Given the description of an element on the screen output the (x, y) to click on. 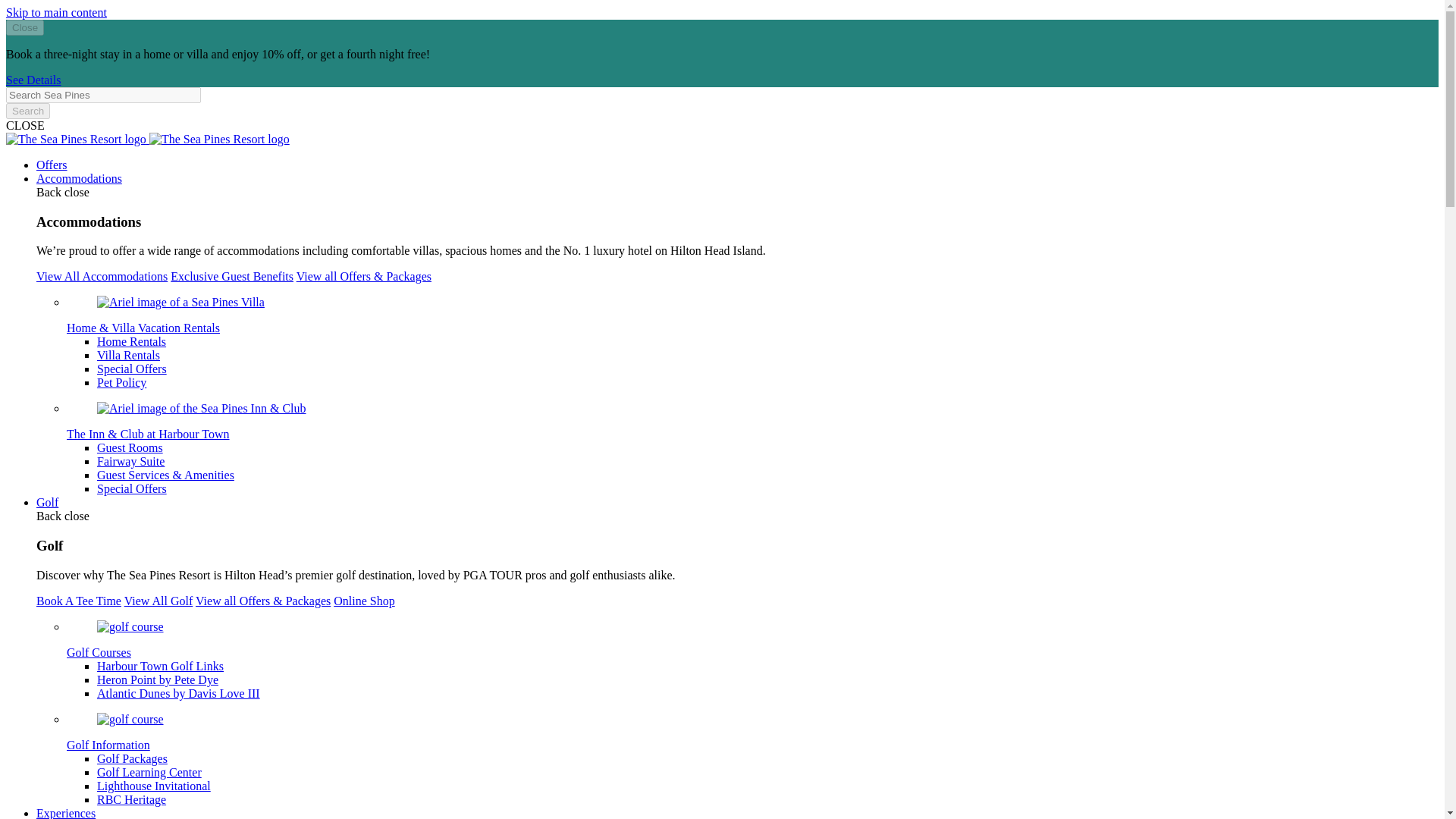
Golf Packages (132, 758)
View All Accommodations (101, 276)
Golf (47, 502)
Fairway Suite (130, 461)
Search (27, 110)
Special Offers (132, 368)
Book A Tee Time (78, 600)
Heron Point by Pete Dye (157, 679)
View All Golf (158, 600)
Special Offers (132, 488)
